Given the description of an element on the screen output the (x, y) to click on. 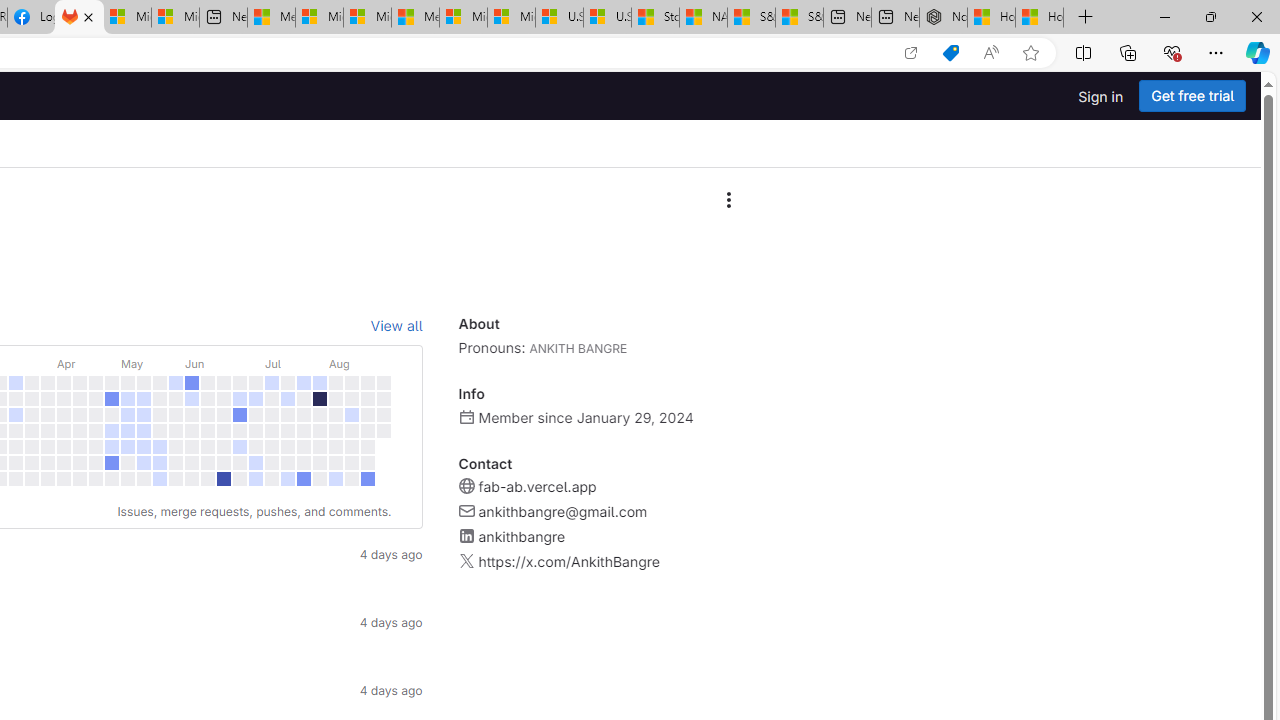
Class: s16 gl-fill-icon-subtle gl-mt-1 flex-shrink-0 (466, 561)
ankithbangre (521, 536)
fab-ab.vercel.app (536, 486)
AutomationID: dropdown-toggle-btn-16 (727, 200)
